Given the description of an element on the screen output the (x, y) to click on. 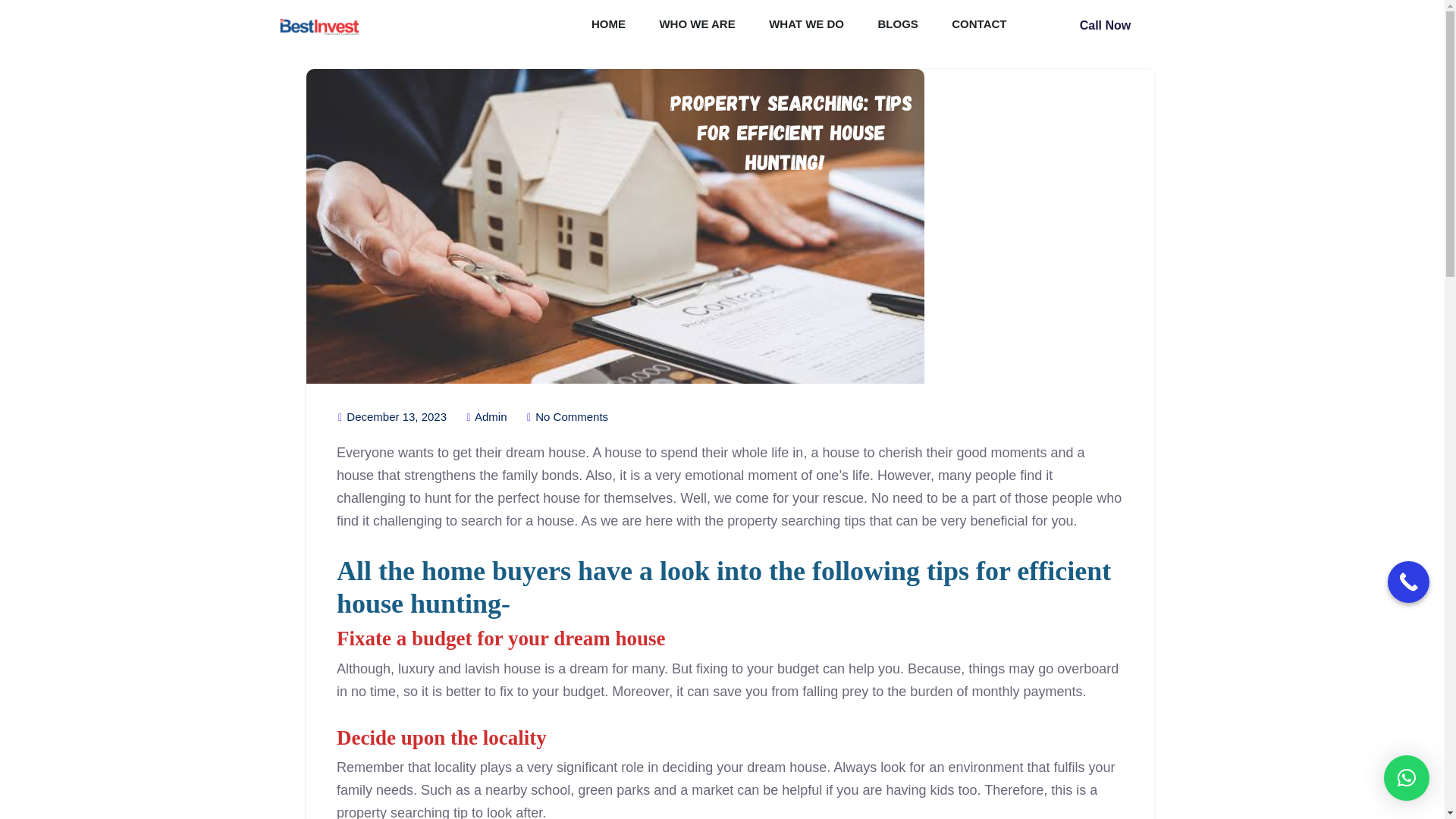
WHAT WE DO (806, 26)
Call Now (1105, 25)
WHO WE ARE (697, 26)
Contact (979, 26)
Admin (485, 416)
What We Do (806, 26)
No Comments (566, 416)
CONTACT (979, 26)
Who We Are (697, 26)
